Given the description of an element on the screen output the (x, y) to click on. 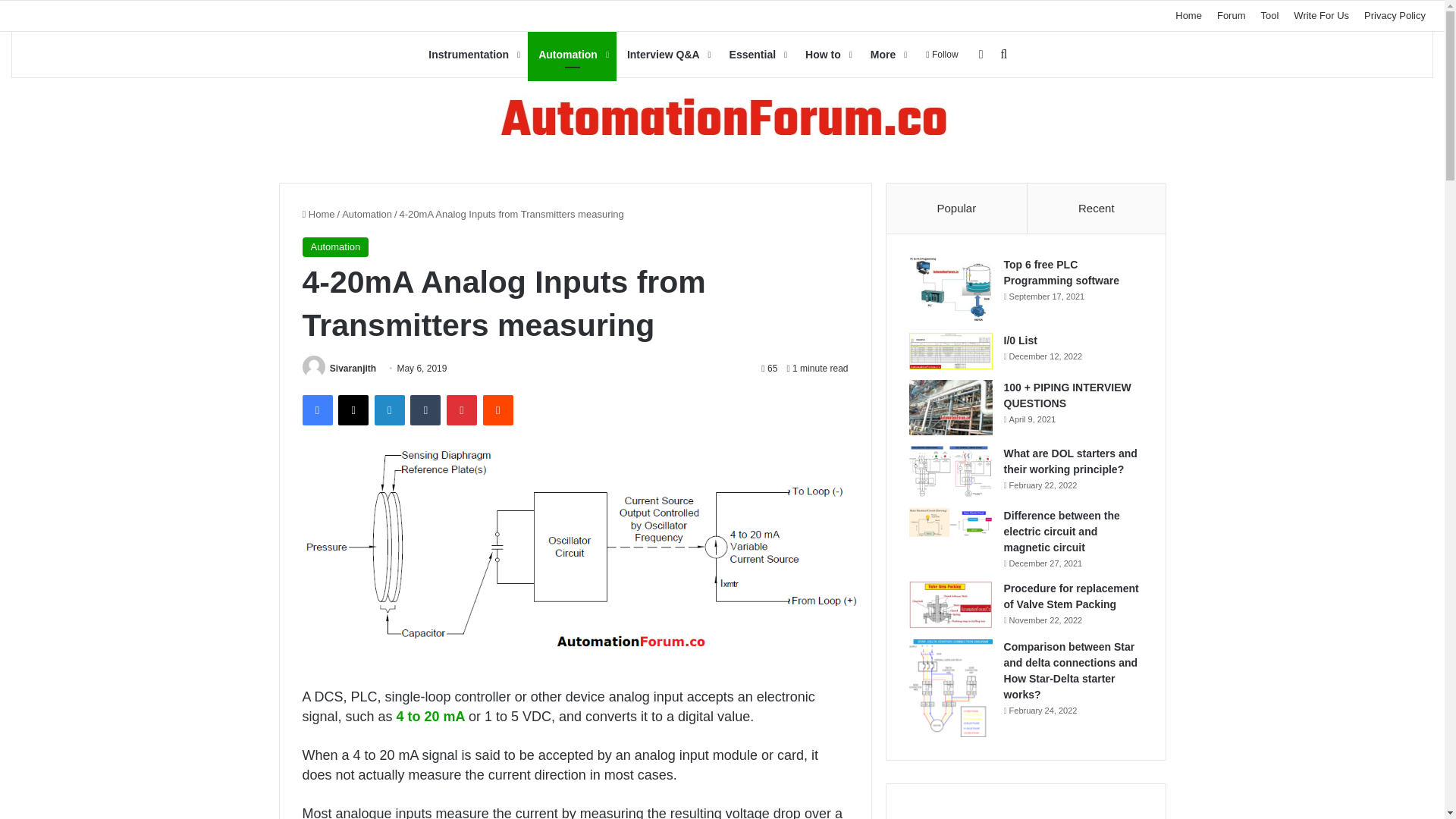
Instrumentation and Control Engineering (722, 119)
LinkedIn (389, 409)
Tumblr (425, 409)
Pinterest (461, 409)
Forum (1231, 15)
Reddit (498, 409)
Essential (756, 53)
Tool (1268, 15)
Write For Us (1320, 15)
X (352, 409)
